Given the description of an element on the screen output the (x, y) to click on. 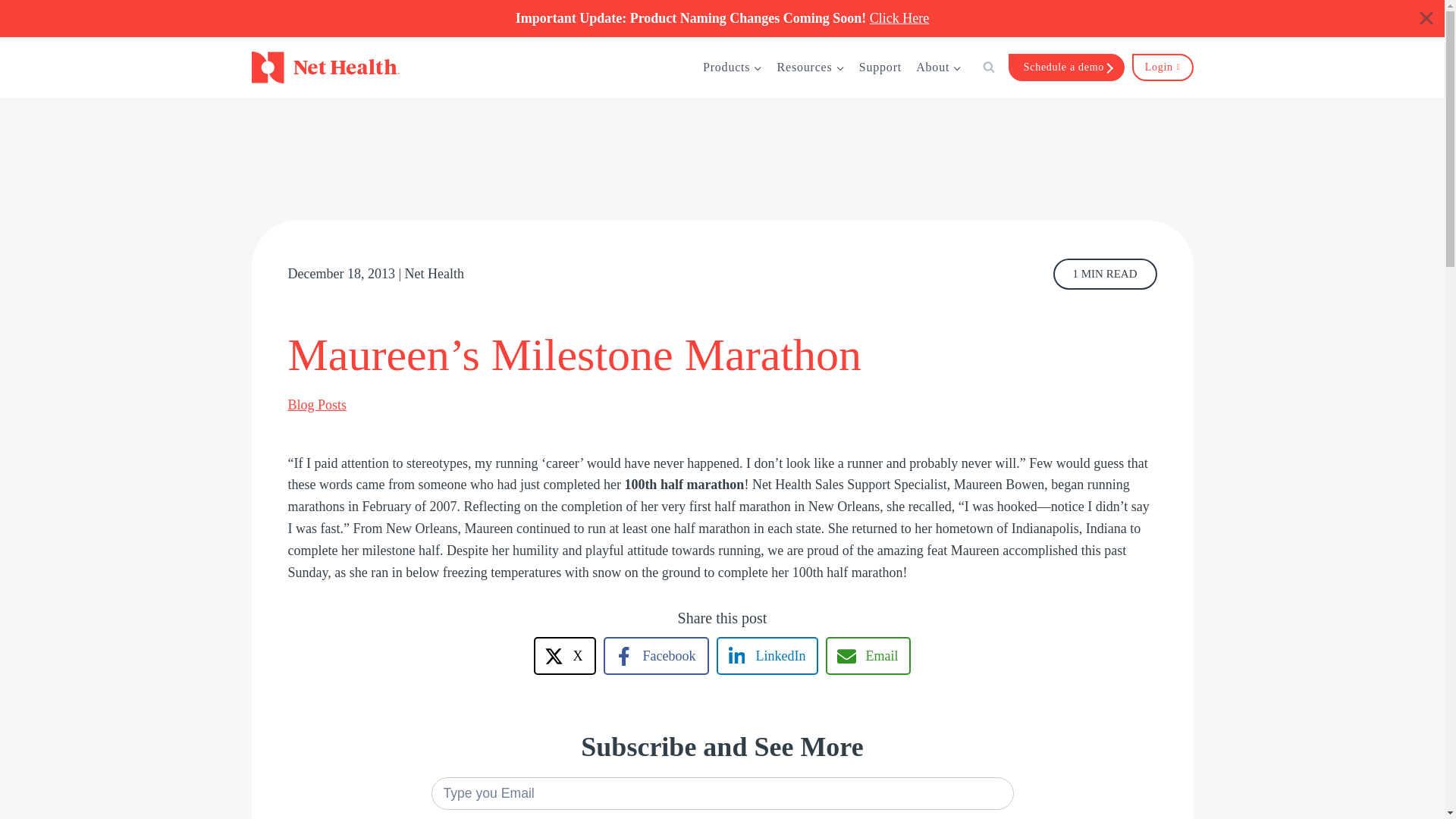
Resources (810, 67)
About (938, 67)
Support (879, 67)
Products (732, 67)
